Given the description of an element on the screen output the (x, y) to click on. 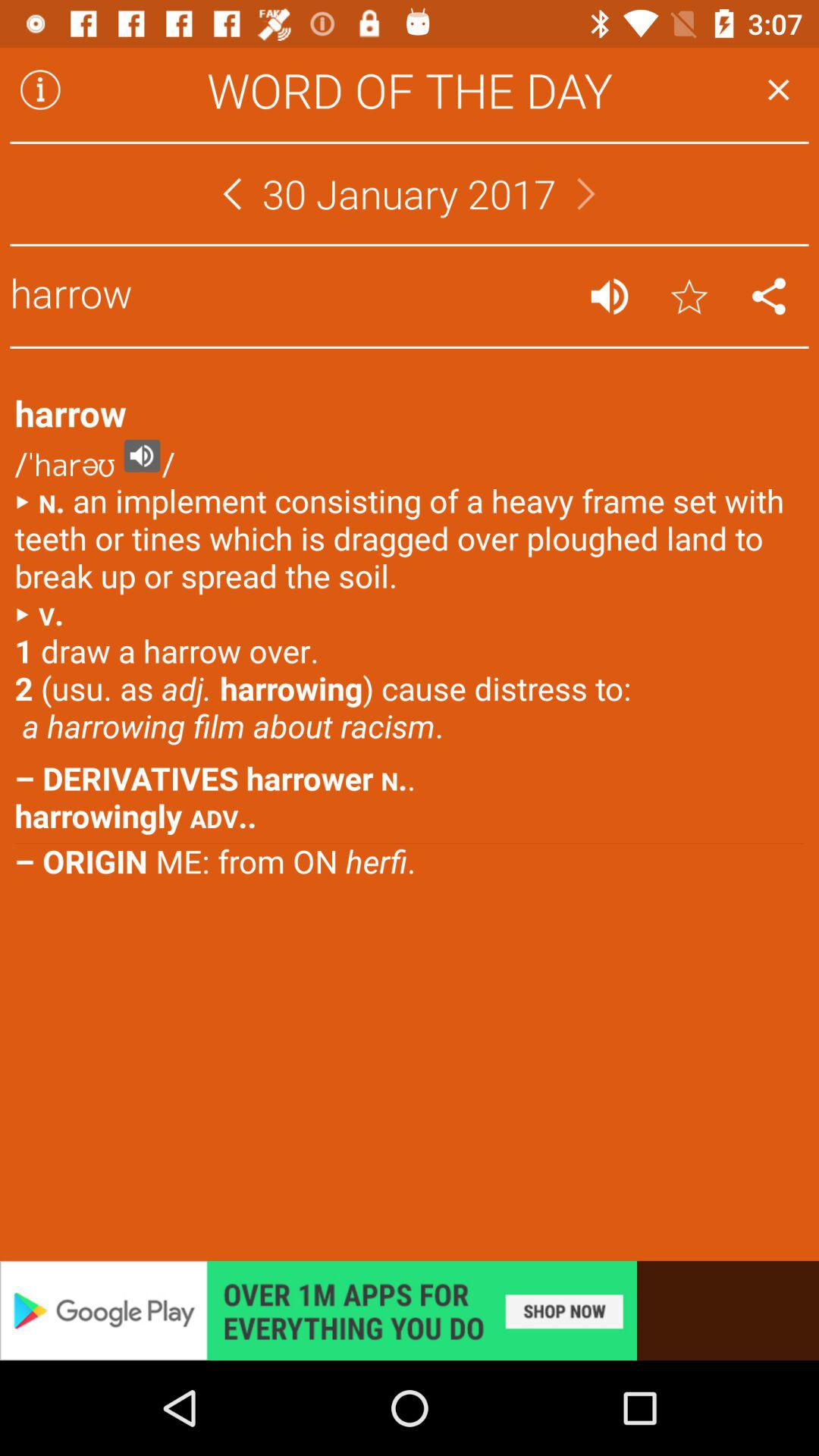
view caution (40, 89)
